Given the description of an element on the screen output the (x, y) to click on. 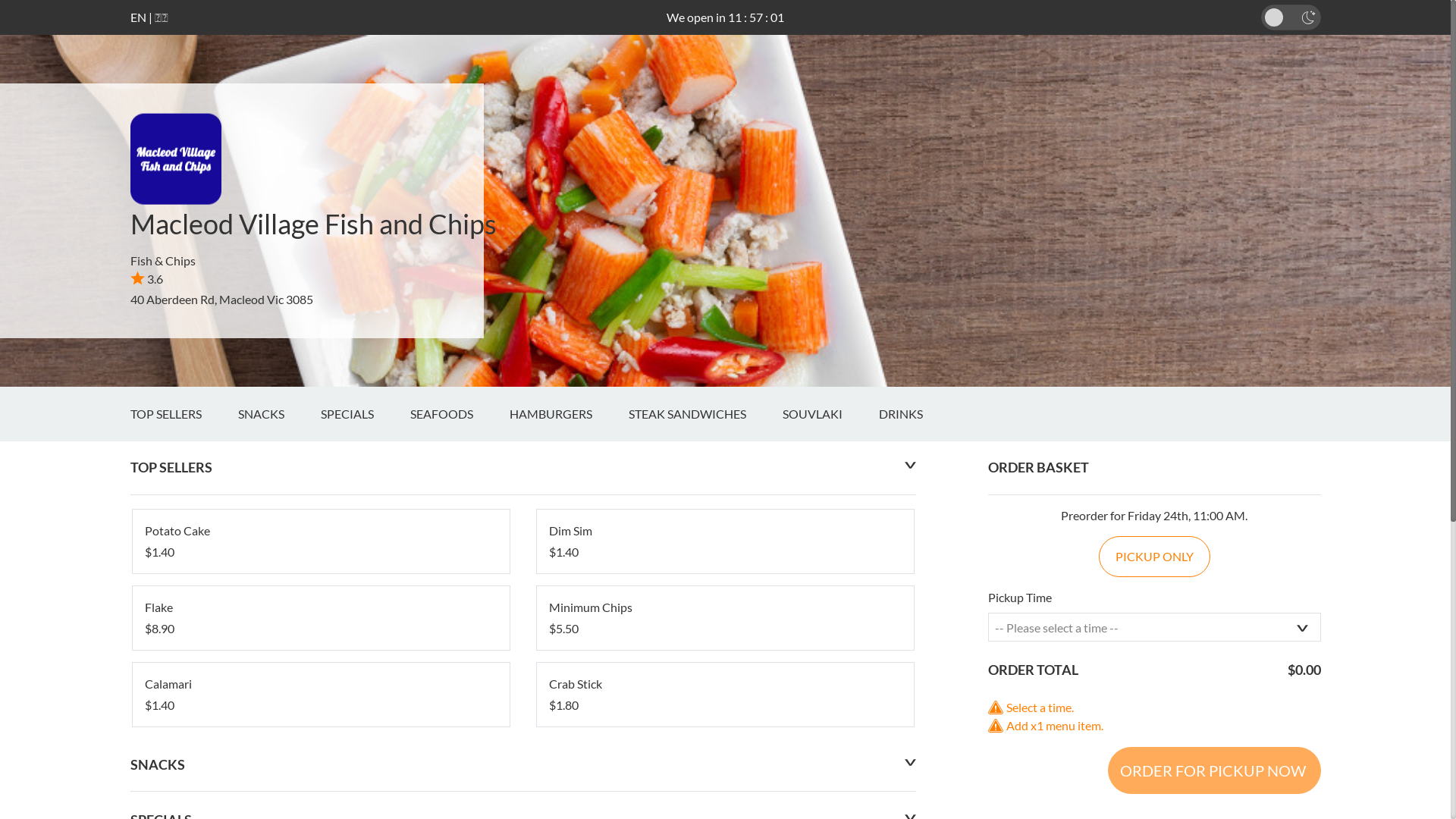
Potato Cake
$1.40 Element type: text (320, 541)
Minimum Chips
$5.50 Element type: text (725, 617)
HAMBURGERS Element type: text (568, 413)
SOUVLAKI Element type: text (830, 413)
STEAK SANDWICHES Element type: text (704, 413)
ORDER FOR PICKUP NOW  Element type: text (1213, 769)
PICKUP ONLY Element type: text (1154, 556)
Calamari
$1.40 Element type: text (320, 694)
Minimum Chips
$5.50 Element type: text (725, 617)
TOP SELLERS Element type: text (184, 413)
SEAFOODS Element type: text (458, 413)
SPECIALS Element type: text (364, 413)
Macleod Village Fish and Chips Element type: text (313, 223)
Potato Cake
$1.40 Element type: text (320, 541)
Dim Sim
$1.40 Element type: text (725, 541)
Calamari
$1.40 Element type: text (320, 694)
EN Element type: text (138, 16)
Crab Stick
$1.80 Element type: text (725, 694)
Flake
$8.90 Element type: text (320, 617)
DRINKS Element type: text (918, 413)
Dim Sim
$1.40 Element type: text (725, 541)
Crab Stick
$1.80 Element type: text (725, 694)
SNACKS Element type: text (279, 413)
3.6 Element type: text (146, 278)
Flake
$8.90 Element type: text (320, 617)
